Given the description of an element on the screen output the (x, y) to click on. 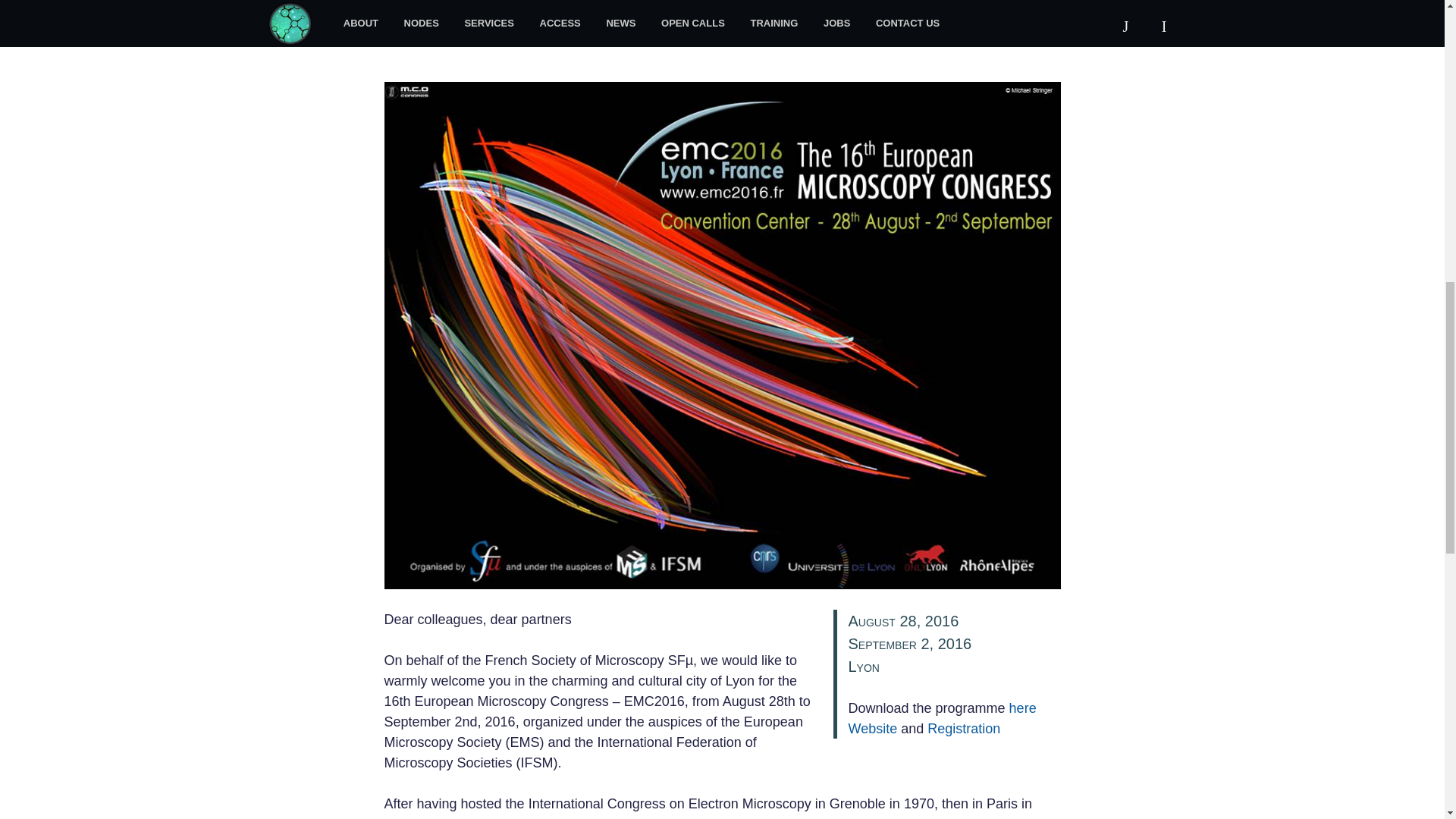
Website (871, 728)
Registration (963, 728)
here (1022, 708)
